Given the description of an element on the screen output the (x, y) to click on. 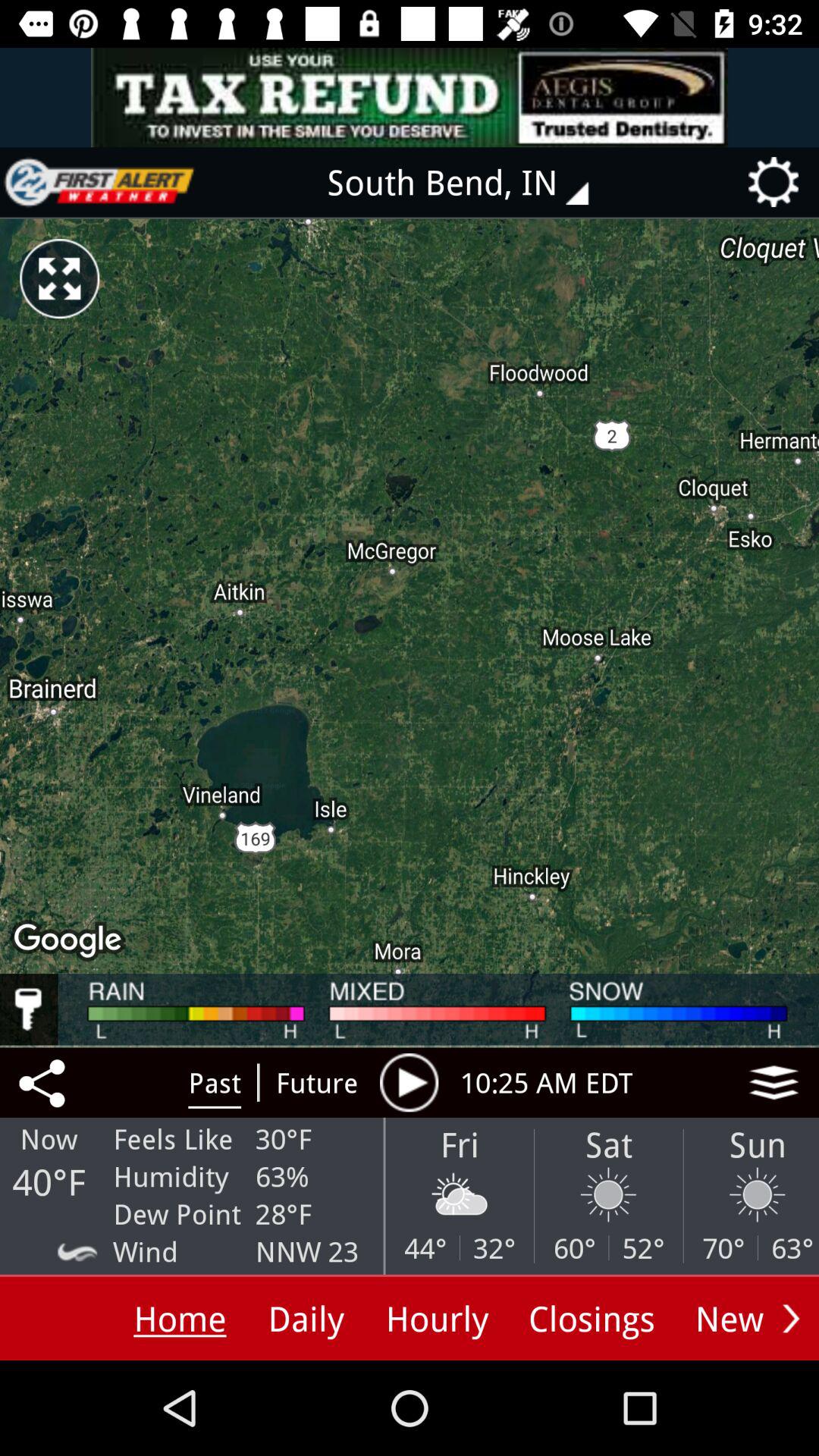
open map layers (774, 1082)
